Given the description of an element on the screen output the (x, y) to click on. 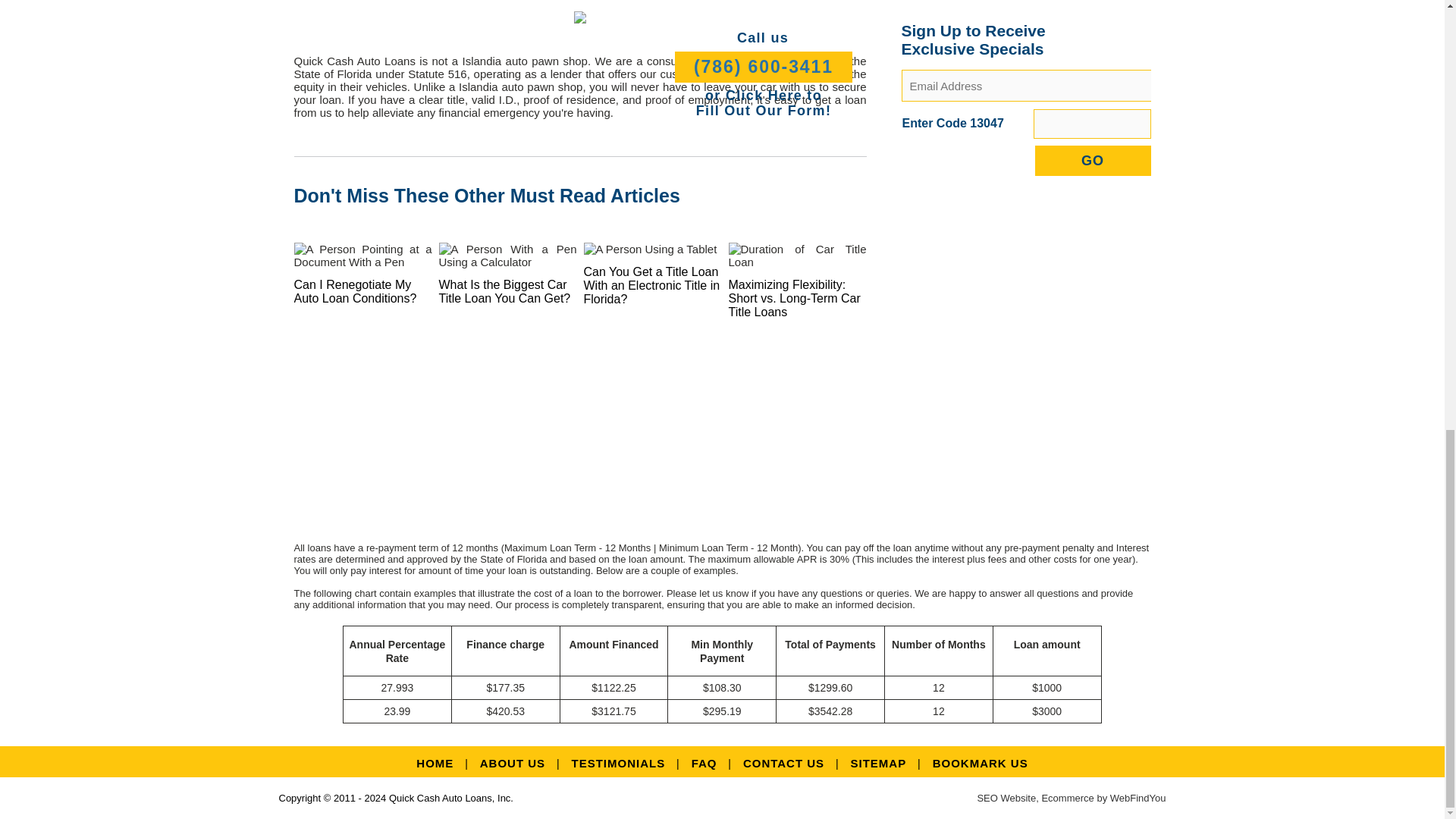
GO (1091, 160)
Click Here (763, 95)
Maximizing Flexibility: Short vs. Long-Term Car Title Loans (794, 298)
Can I Renegotiate My Auto Loan Conditions? (355, 291)
GO (1091, 160)
What Is the Biggest Car Title Loan You Can Get? (504, 291)
